Given the description of an element on the screen output the (x, y) to click on. 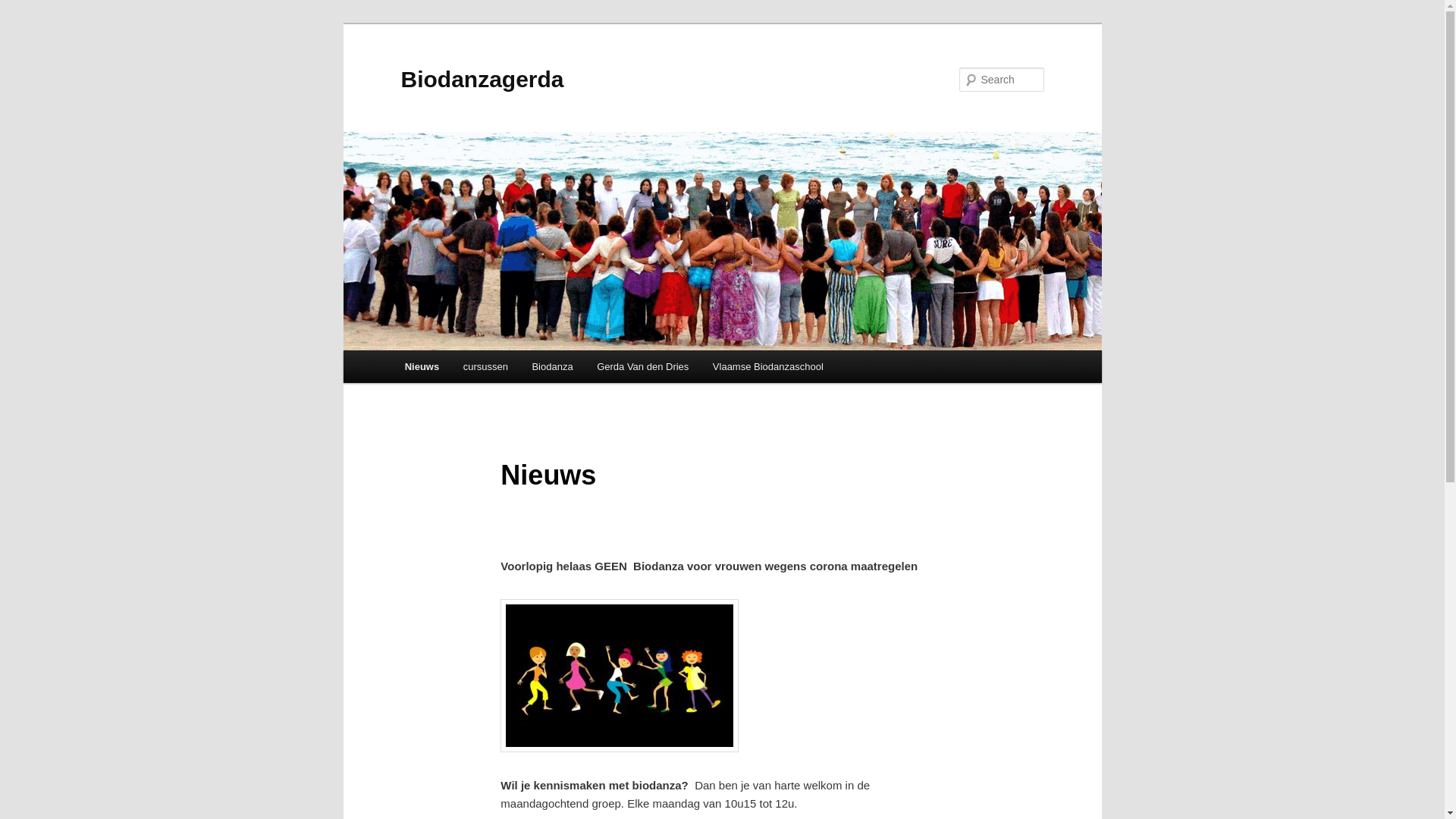
cursussen Element type: text (485, 366)
Search Element type: text (24, 8)
Nieuws Element type: text (421, 366)
Biodanzagerda Element type: text (481, 78)
Skip to primary content Element type: text (414, 350)
Gerda Van den Dries Element type: text (642, 366)
Biodanza Element type: text (552, 366)
Vlaamse Biodanzaschool Element type: text (767, 366)
